Given the description of an element on the screen output the (x, y) to click on. 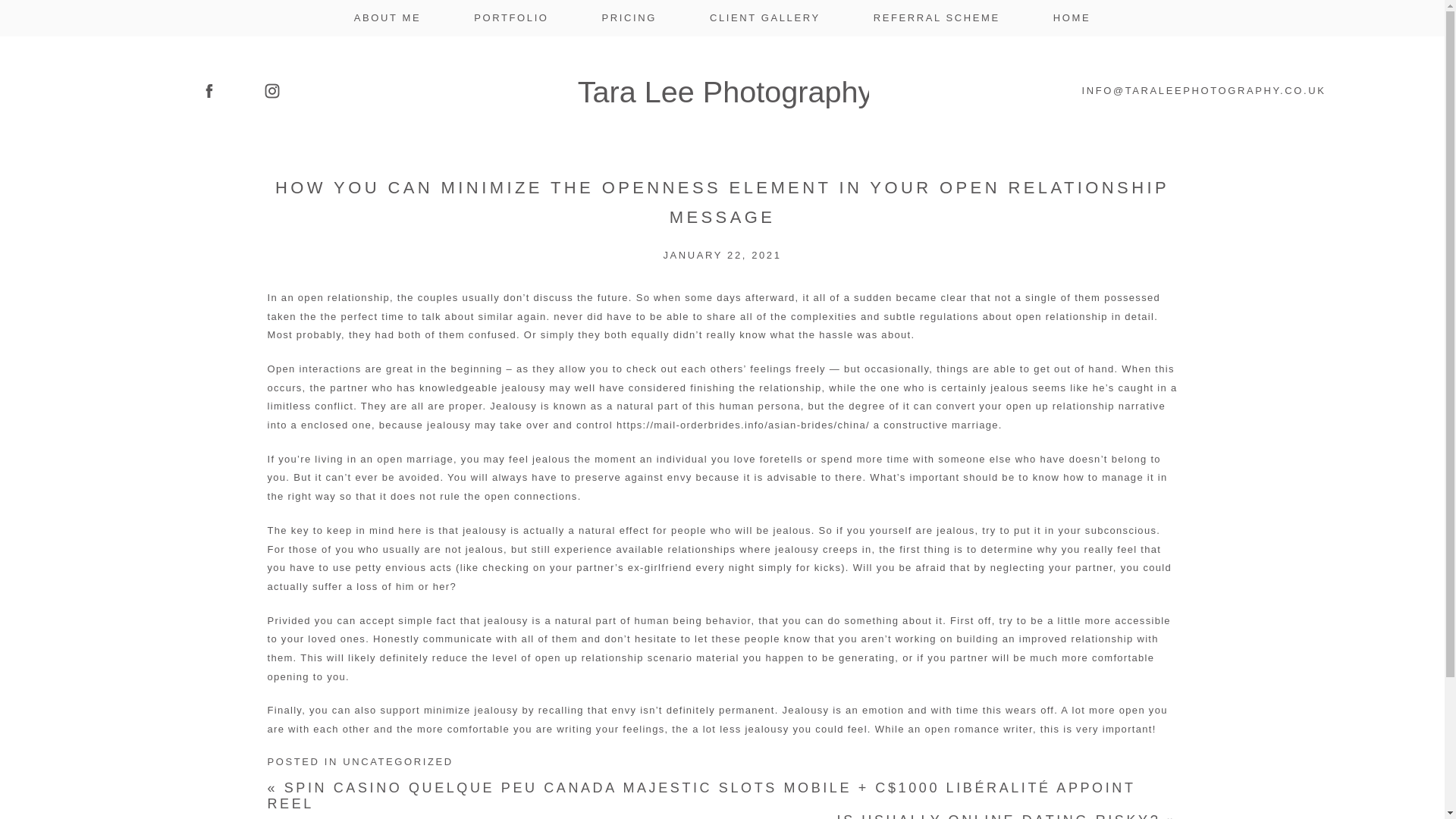
HOME (1071, 18)
ABOUT ME (386, 18)
CLIENT GALLERY (765, 18)
PRICING (629, 18)
REFERRAL SCHEME (936, 18)
UNCATEGORIZED (397, 761)
